Given the description of an element on the screen output the (x, y) to click on. 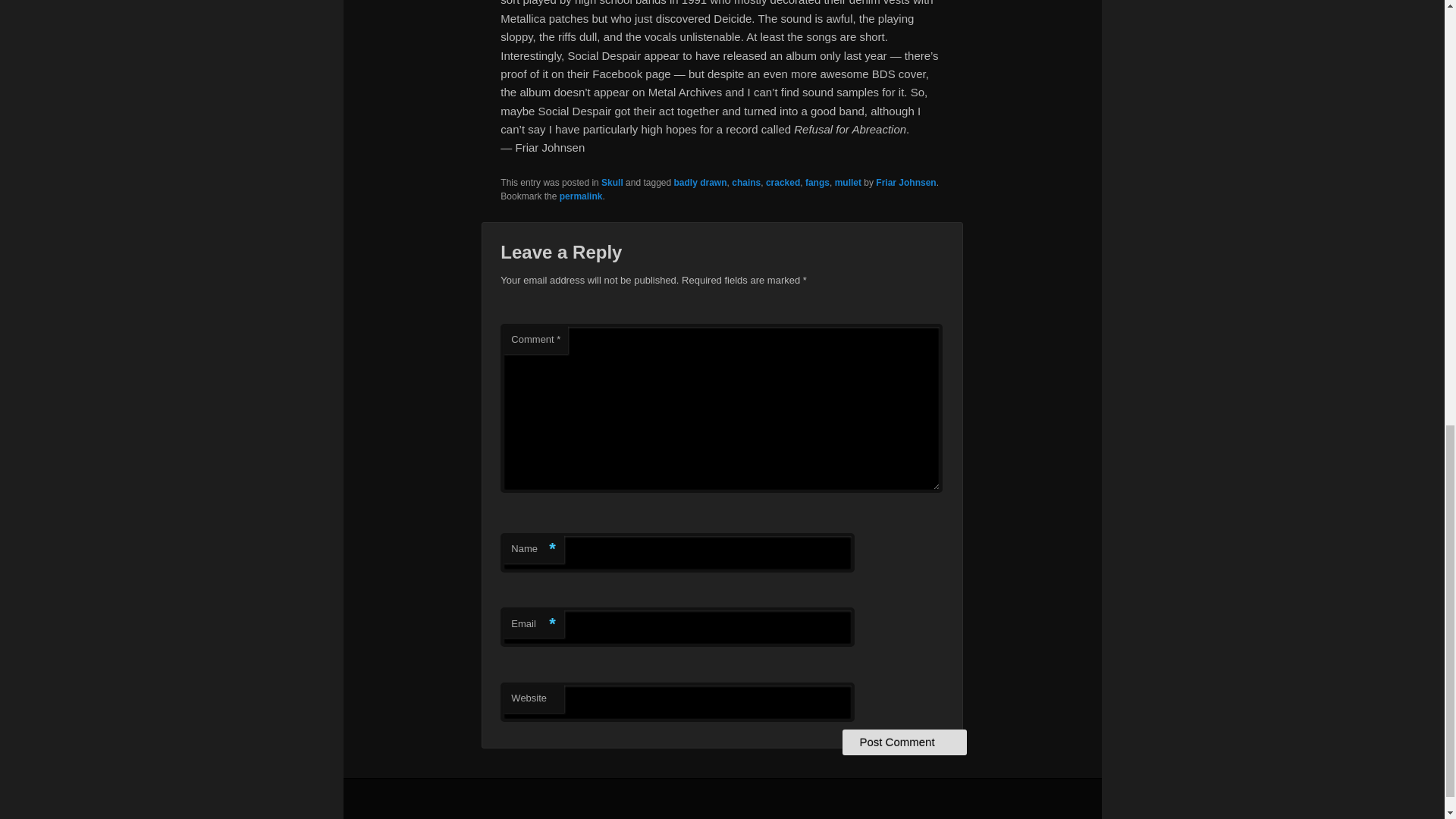
Post Comment (904, 742)
Skull (612, 182)
permalink (580, 195)
Friar Johnsen (906, 182)
chains (746, 182)
cracked (782, 182)
badly drawn (700, 182)
fangs (817, 182)
Post Comment (904, 742)
mullet (847, 182)
Permalink to SKULL607 (580, 195)
